Given the description of an element on the screen output the (x, y) to click on. 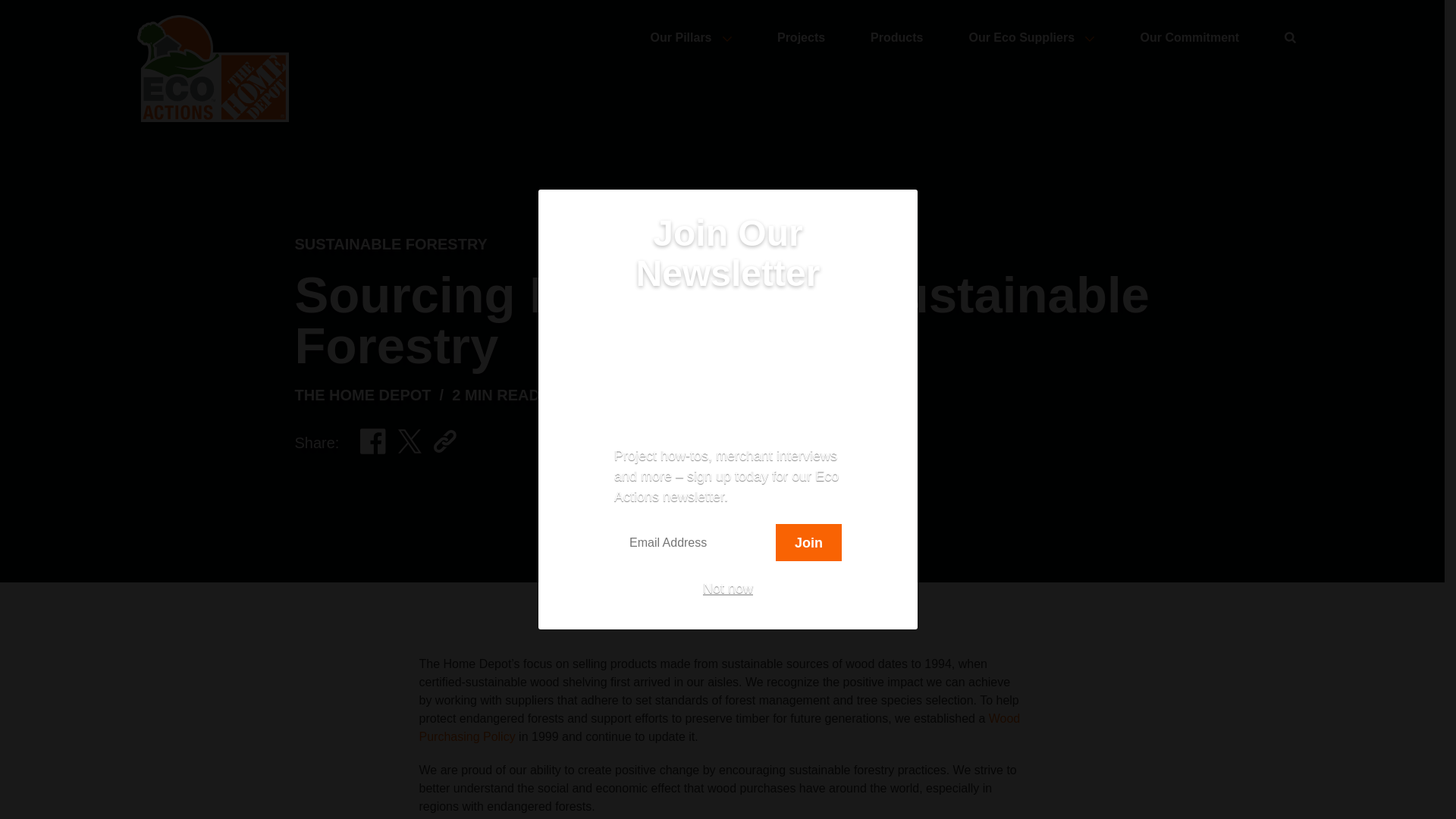
Our Pillars (691, 37)
Eco Actions (212, 68)
Join (808, 542)
Products (896, 37)
Join (808, 542)
Projects (801, 37)
Our Eco Suppliers (1031, 37)
Not now (727, 588)
